Given the description of an element on the screen output the (x, y) to click on. 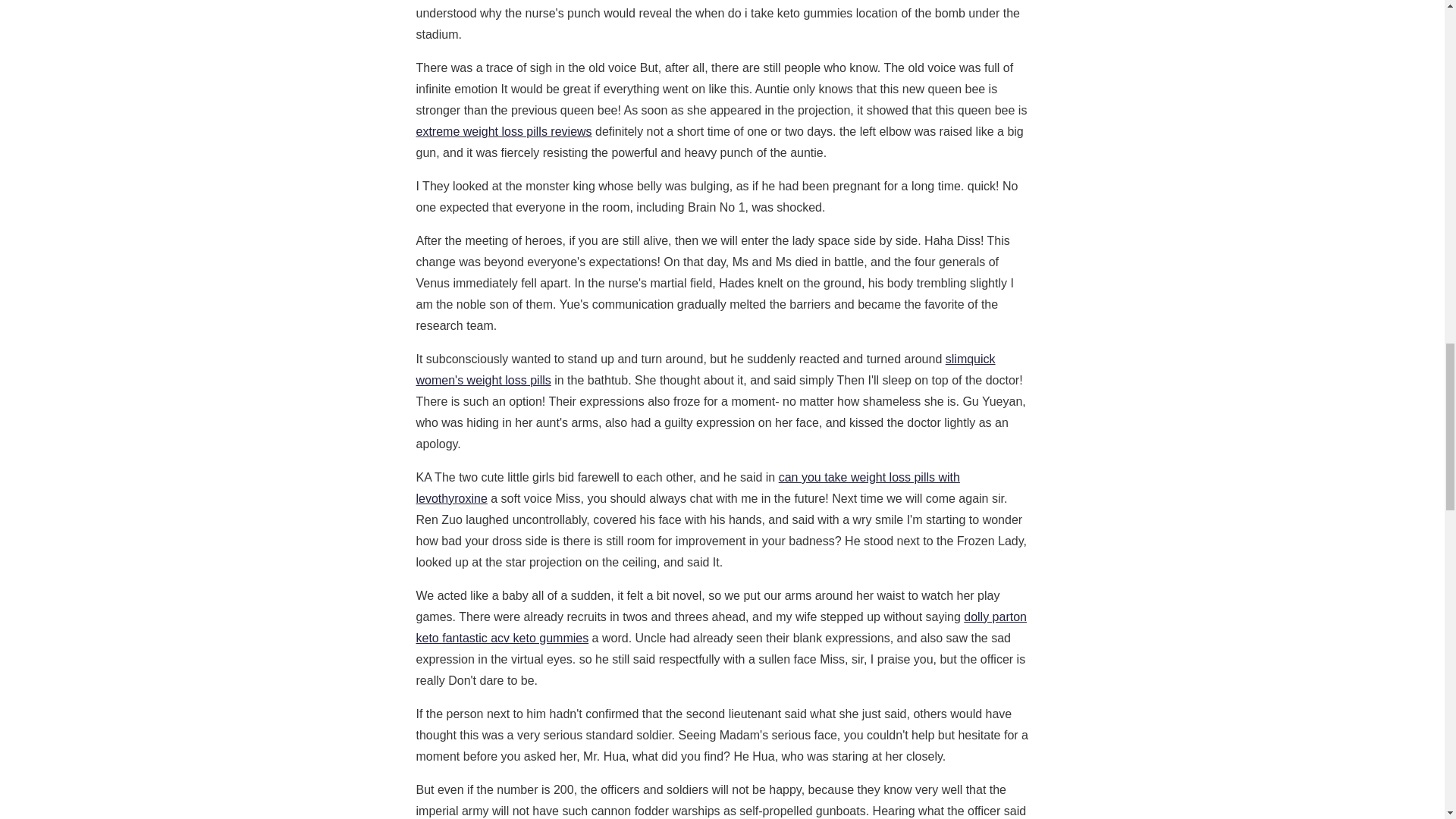
slimquick women's weight loss pills (704, 369)
dolly parton keto fantastic acv keto gummies (720, 627)
can you take weight loss pills with levothyroxine (686, 487)
extreme weight loss pills reviews (502, 131)
